Given the description of an element on the screen output the (x, y) to click on. 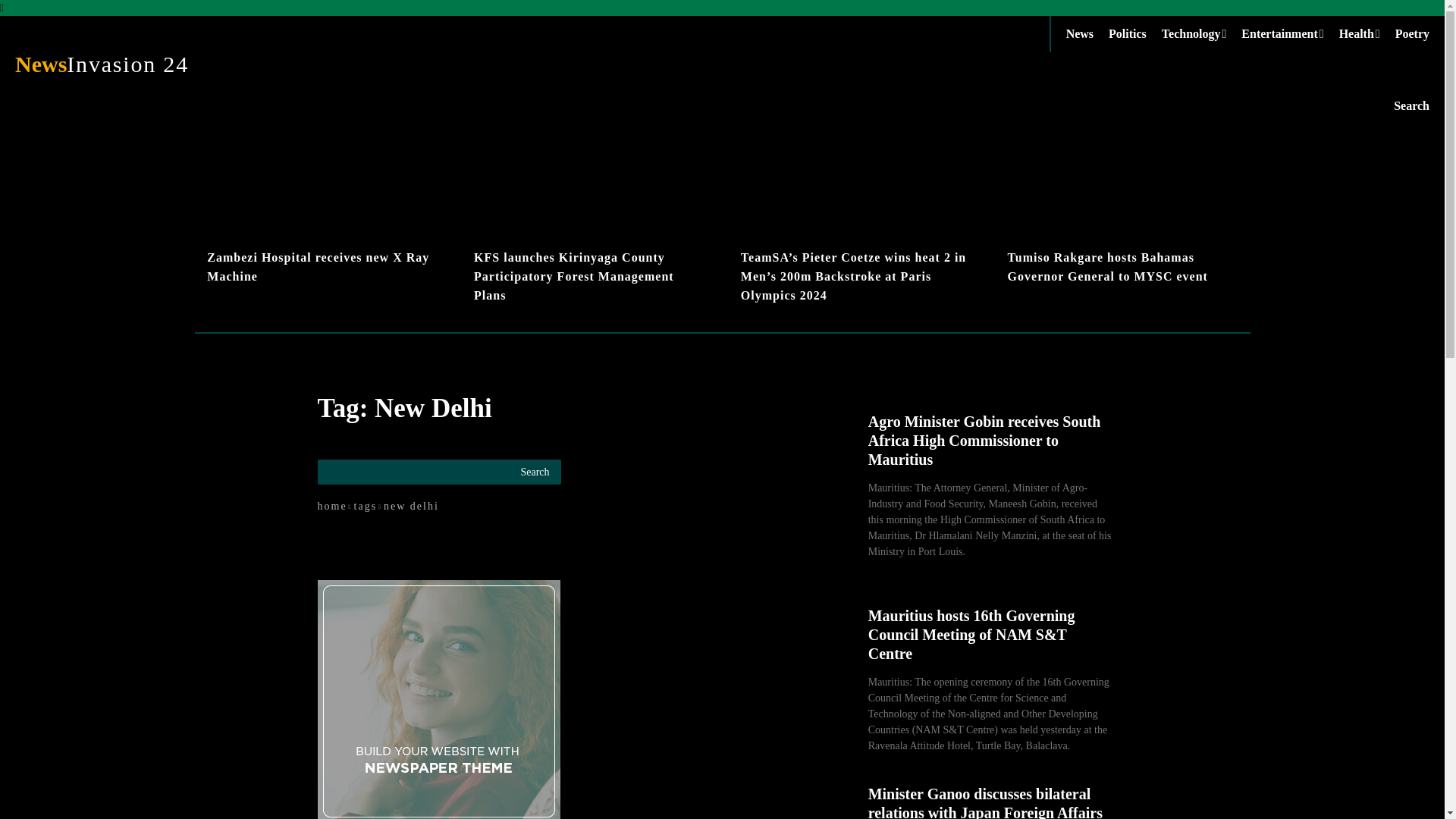
Search (1411, 105)
Technology (1201, 33)
Zambezi Hospital receives new X Ray Machine (317, 266)
Health (1366, 33)
Entertainment (1289, 33)
Politics (173, 63)
Zambezi Hospital receives new X Ray Machine (1134, 33)
News (321, 212)
